Given the description of an element on the screen output the (x, y) to click on. 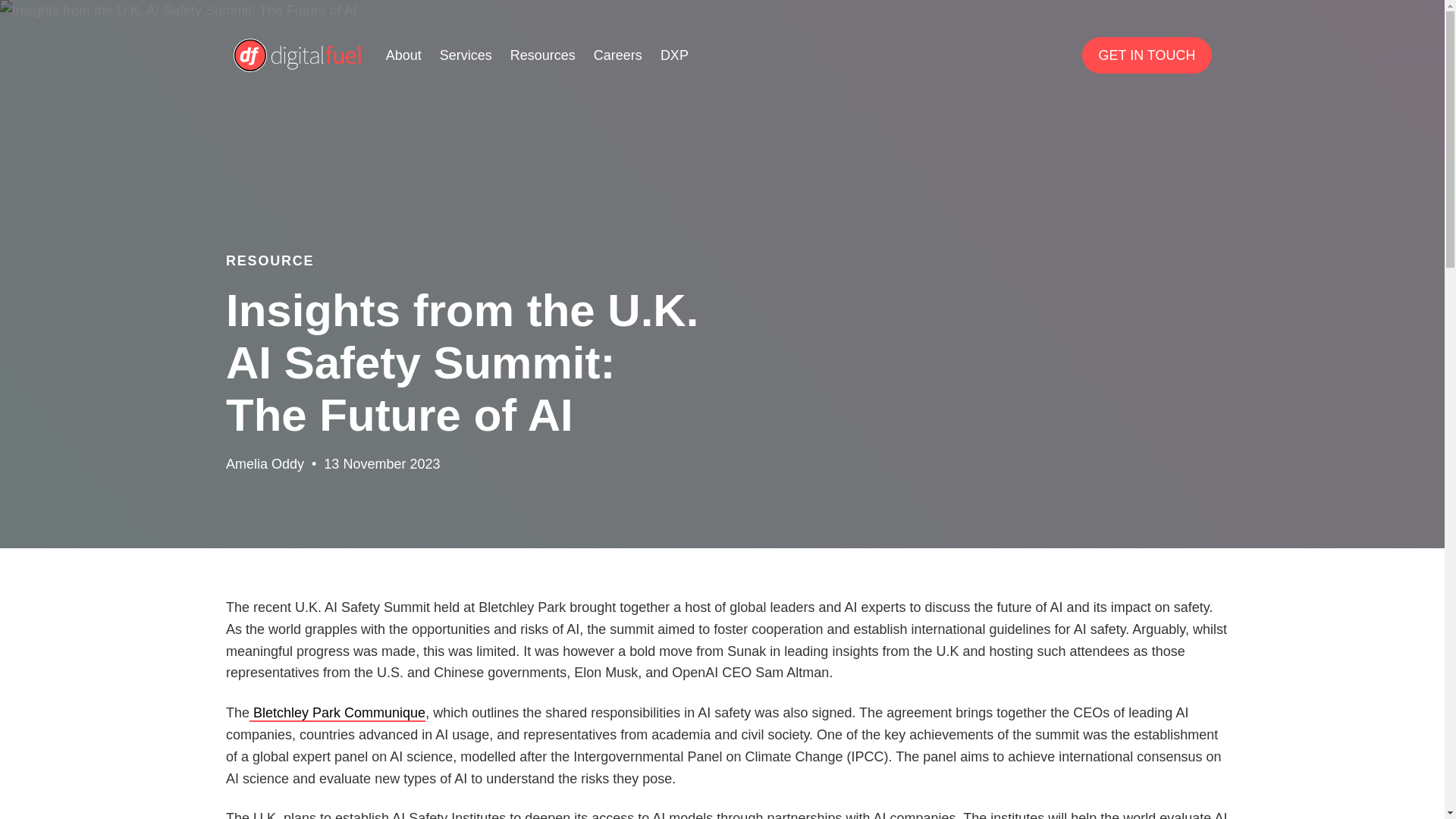
Resources (543, 55)
Services (465, 55)
Bletchley Park Communique (336, 712)
About (403, 55)
DXP (674, 55)
Careers (618, 55)
GET IN TOUCH (1146, 54)
